Given the description of an element on the screen output the (x, y) to click on. 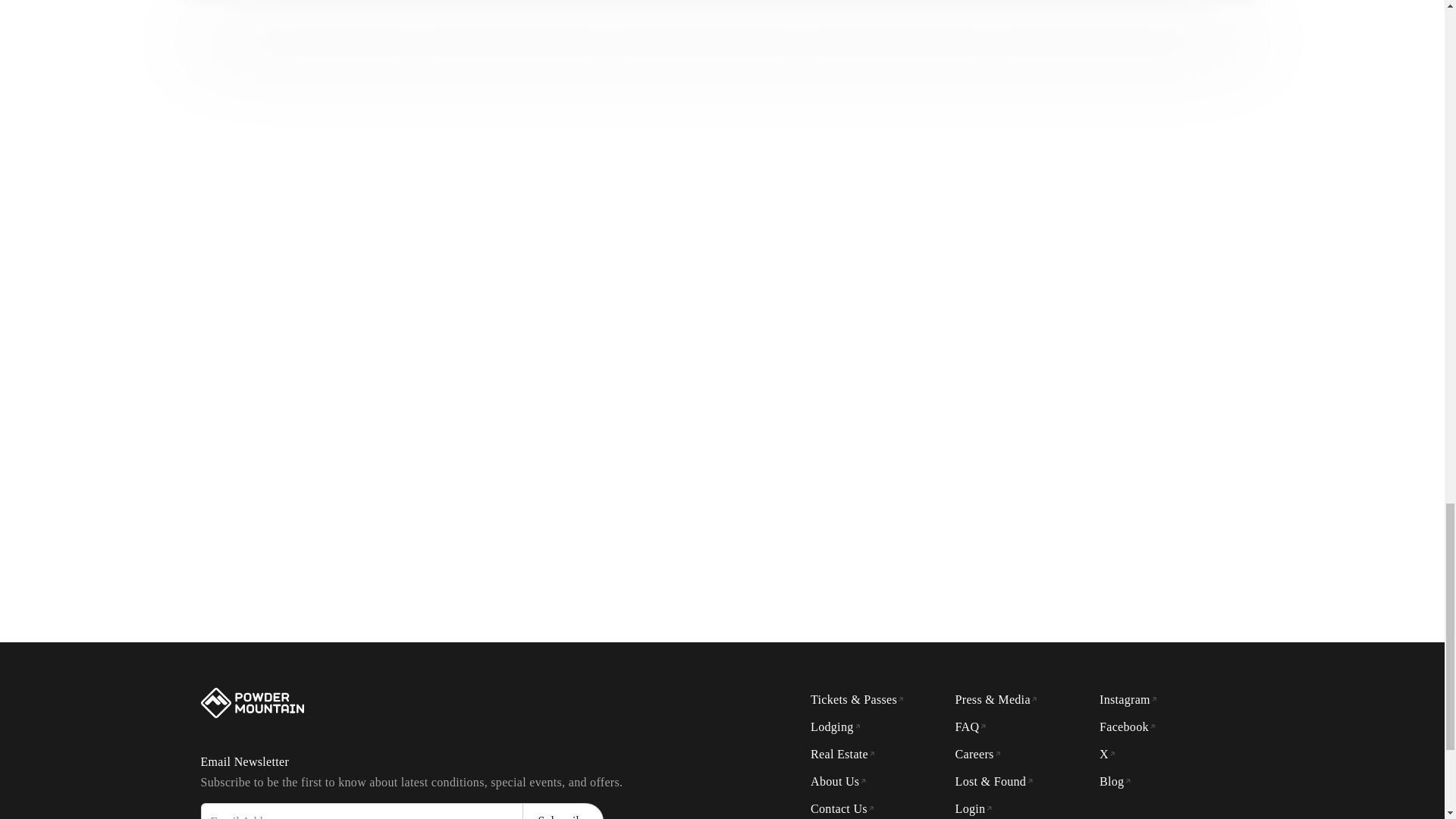
Subscribe (562, 811)
Careers (978, 754)
Instagram (1128, 699)
About Us (838, 781)
Login (973, 808)
FAQ (971, 727)
Facebook (1127, 727)
Blog (1115, 781)
Lodging (835, 727)
X (1107, 754)
